Given the description of an element on the screen output the (x, y) to click on. 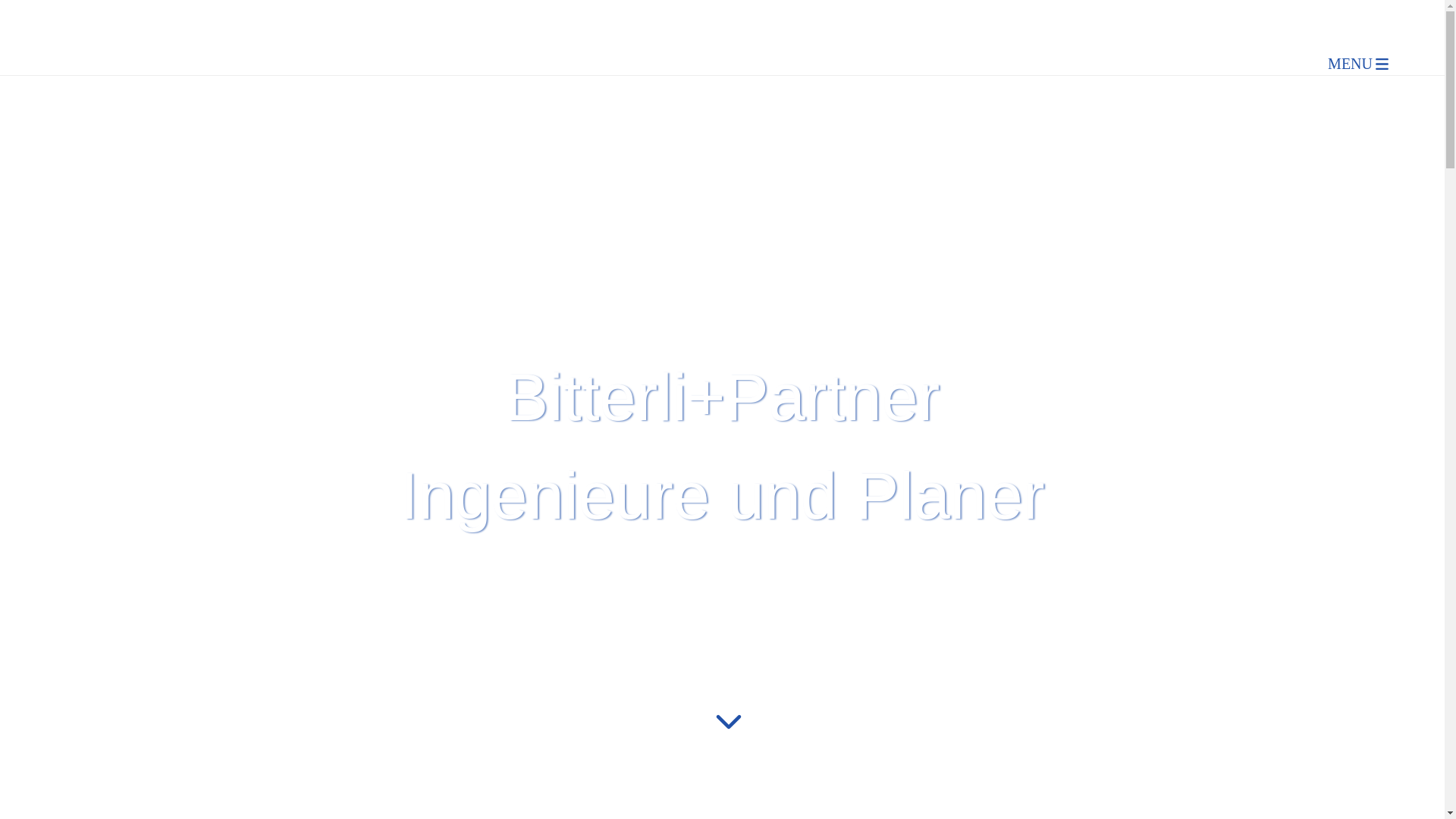
MENU Element type: text (1315, 63)
Nach unten Element type: hover (728, 740)
